Given the description of an element on the screen output the (x, y) to click on. 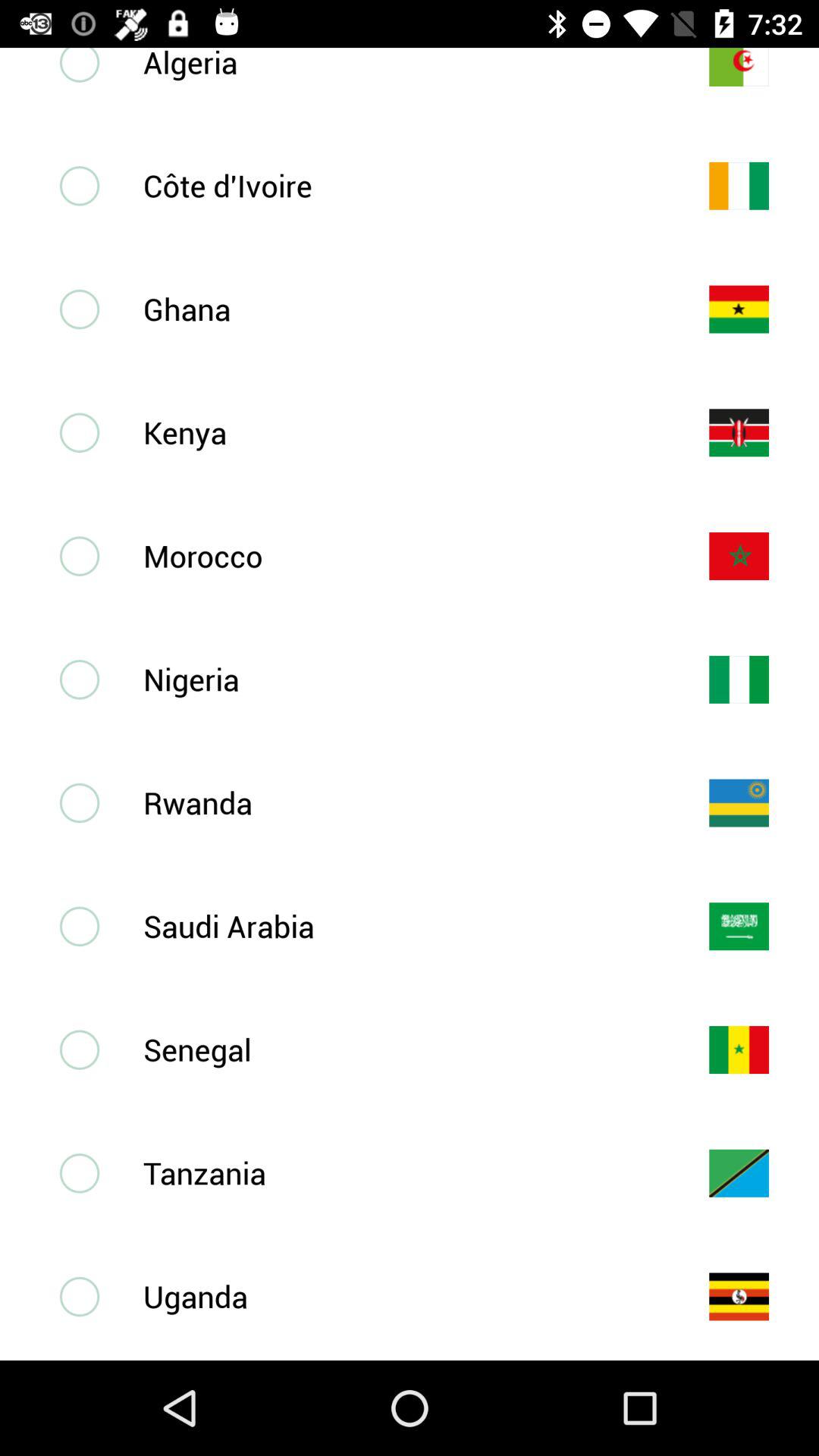
open kenya icon (401, 432)
